Given the description of an element on the screen output the (x, y) to click on. 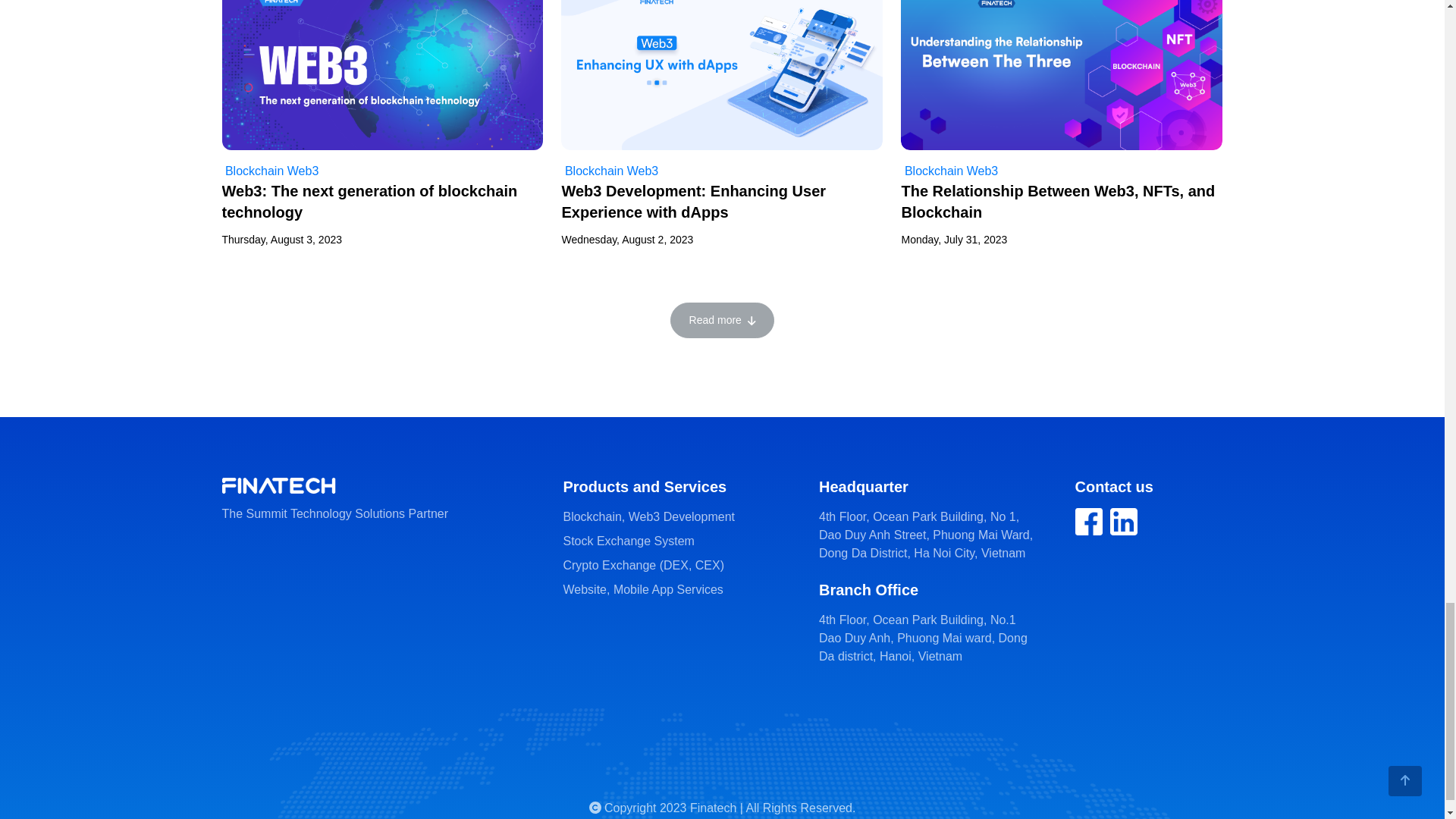
Blockchain Web3 (269, 170)
Blockchain Web3 (609, 170)
